Given the description of an element on the screen output the (x, y) to click on. 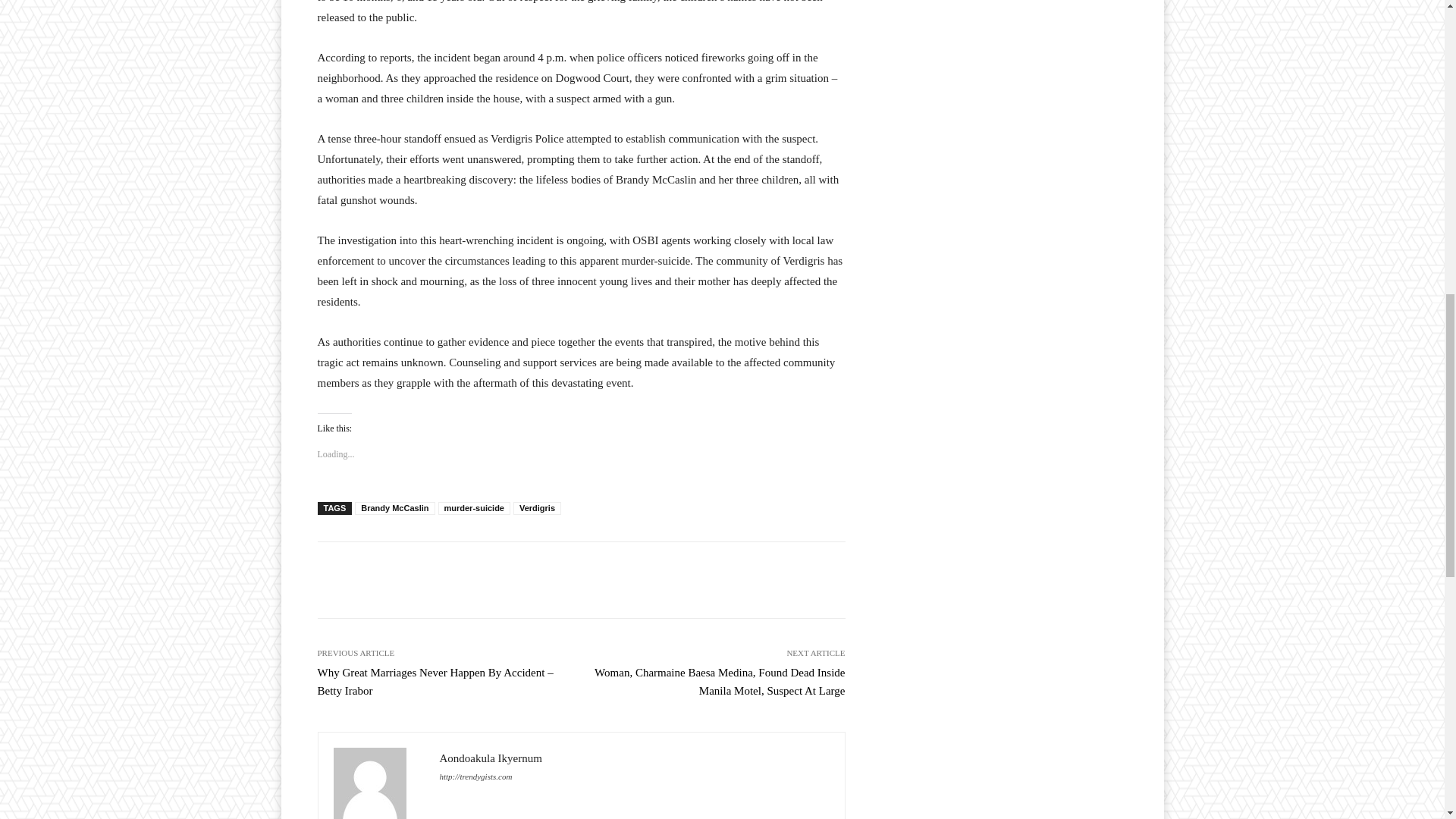
murder-suicide (474, 508)
Verdigris (536, 508)
Brandy McCaslin (394, 508)
